Given the description of an element on the screen output the (x, y) to click on. 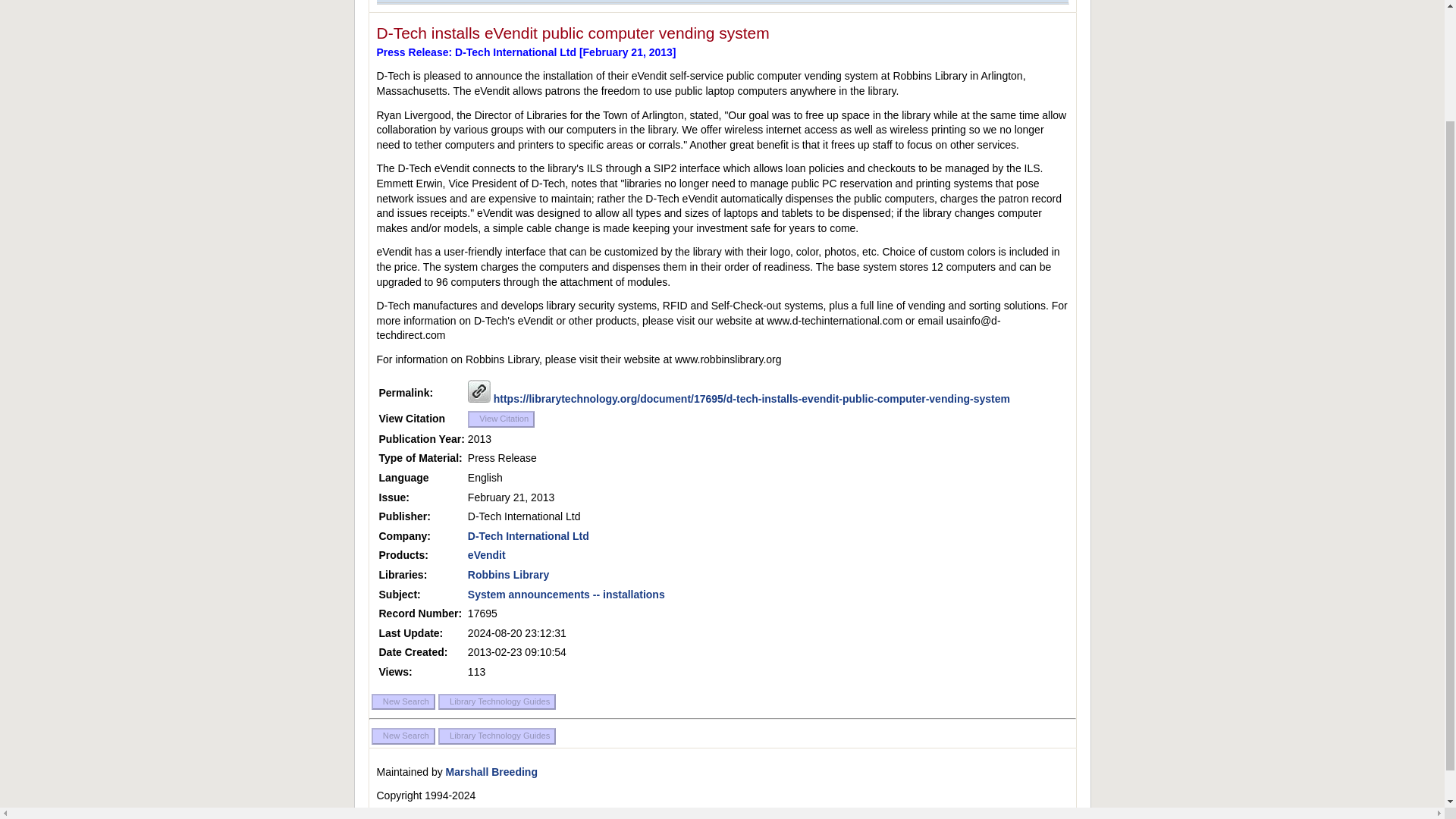
Guides (514, 1)
Persistent URL for this listing (478, 391)
Library Technology Guides (497, 701)
View Citation (500, 419)
Documents (579, 1)
Library Technology Guides (497, 736)
Execute a Product search for eVendit (486, 554)
Execute a Library search for Robbins Library (507, 574)
New Search (403, 701)
New Search (403, 736)
